Given the description of an element on the screen output the (x, y) to click on. 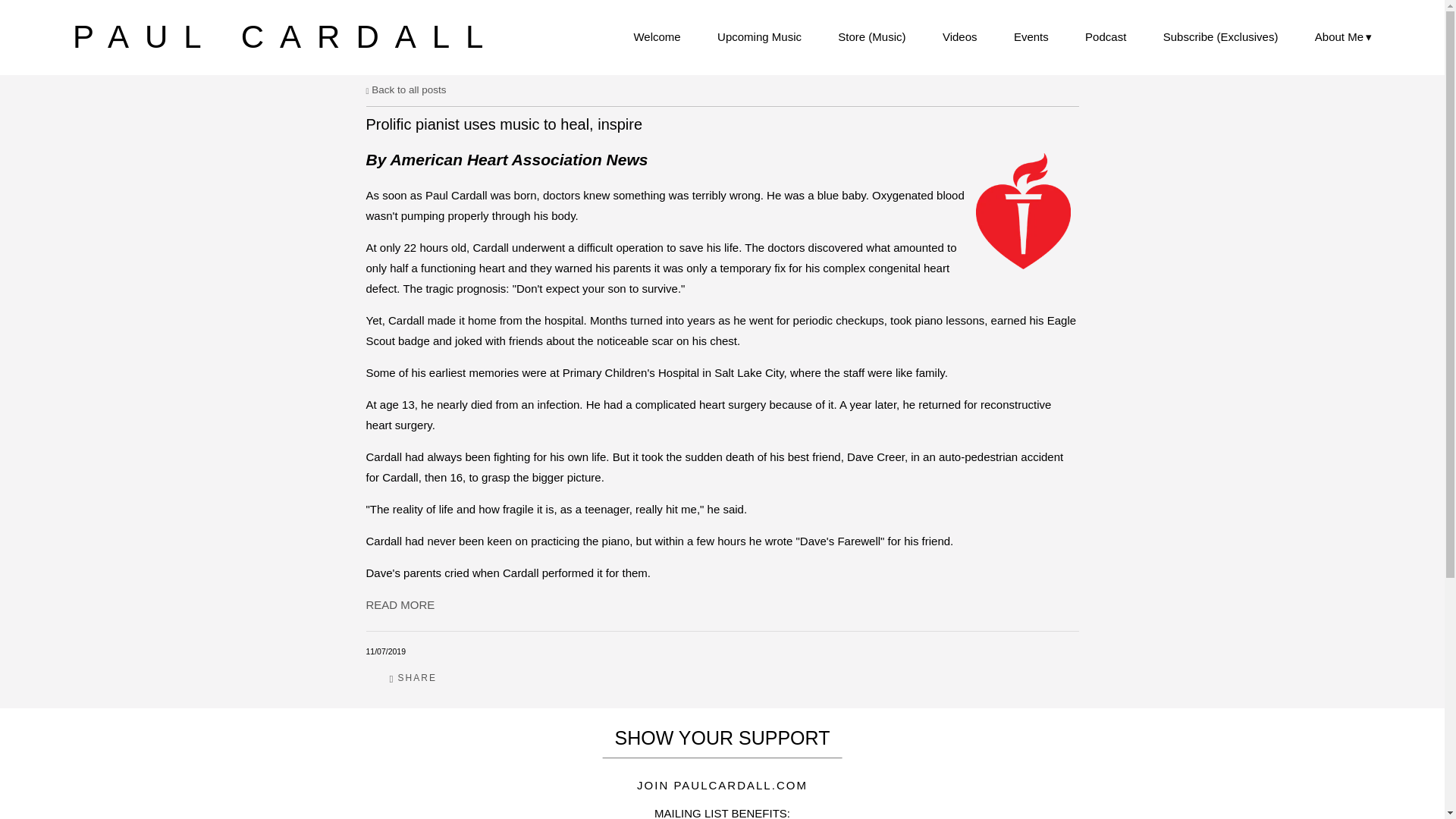
November 07, 2019 13:34 (385, 651)
Welcome (656, 37)
About Me (1342, 37)
Videos (959, 37)
Upcoming Music (759, 37)
Events (1030, 37)
Podcast (1104, 37)
Share Prolific pianist uses music to heal, inspire (412, 678)
PAUL CARDALL (285, 36)
